Given the description of an element on the screen output the (x, y) to click on. 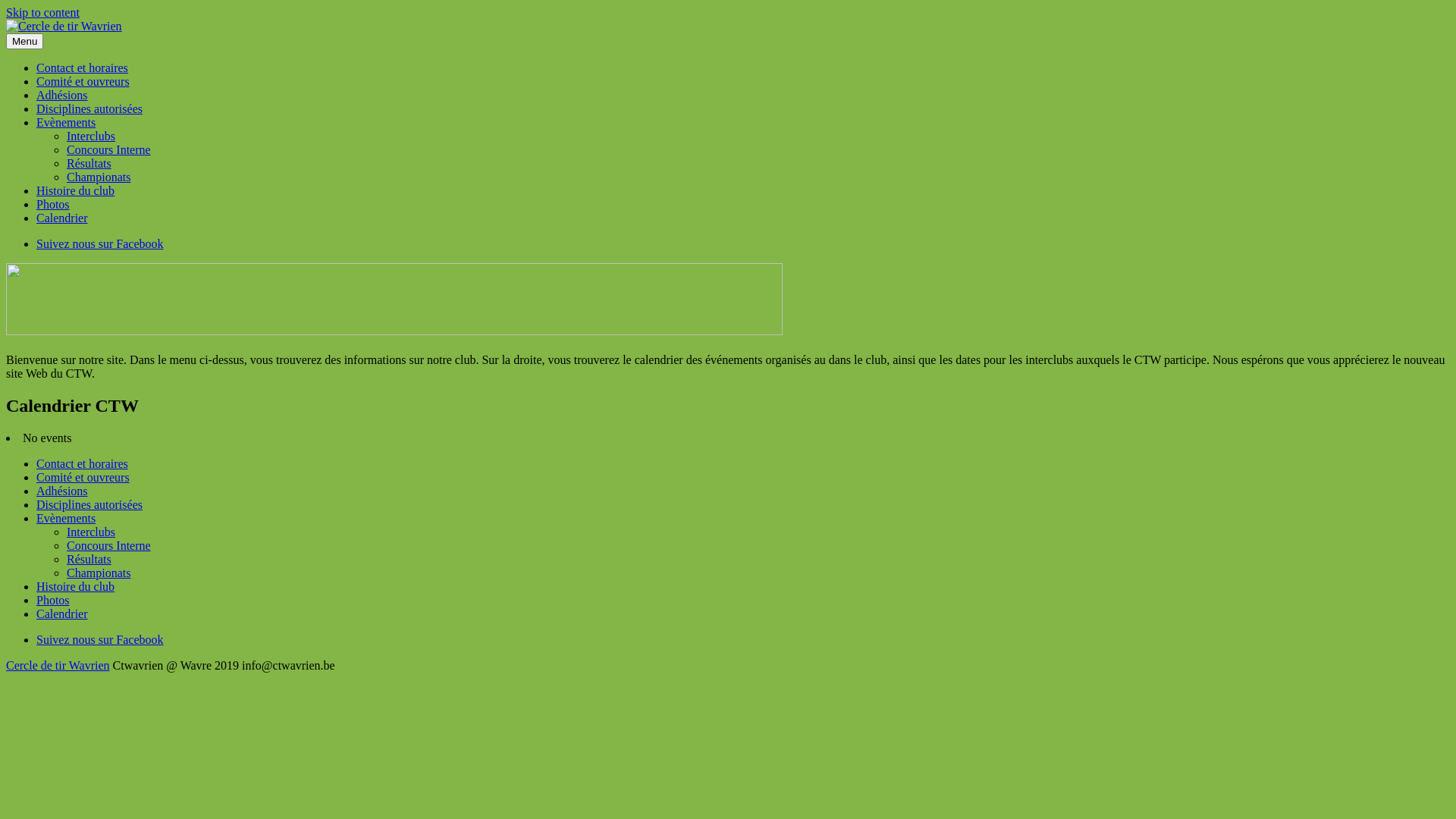
Photos Element type: text (52, 203)
Cercle de tir Wavrien Element type: text (57, 51)
Interclubs Element type: text (90, 531)
Cercle de tir Wavrien Element type: text (57, 664)
Championats Element type: text (98, 572)
Championats Element type: text (98, 176)
Interclubs Element type: text (90, 135)
Suivez nous sur Facebook Element type: text (99, 243)
Histoire du club Element type: text (75, 190)
Suivez nous sur Facebook Element type: text (99, 639)
Concours Interne Element type: text (108, 149)
Calendrier Element type: text (61, 613)
Contact et horaires Element type: text (82, 67)
Histoire du club Element type: text (75, 586)
Menu Element type: text (24, 41)
Skip to content Element type: text (42, 12)
Contact et horaires Element type: text (82, 463)
Photos Element type: text (52, 599)
Calendrier Element type: text (61, 217)
Concours Interne Element type: text (108, 545)
